Given the description of an element on the screen output the (x, y) to click on. 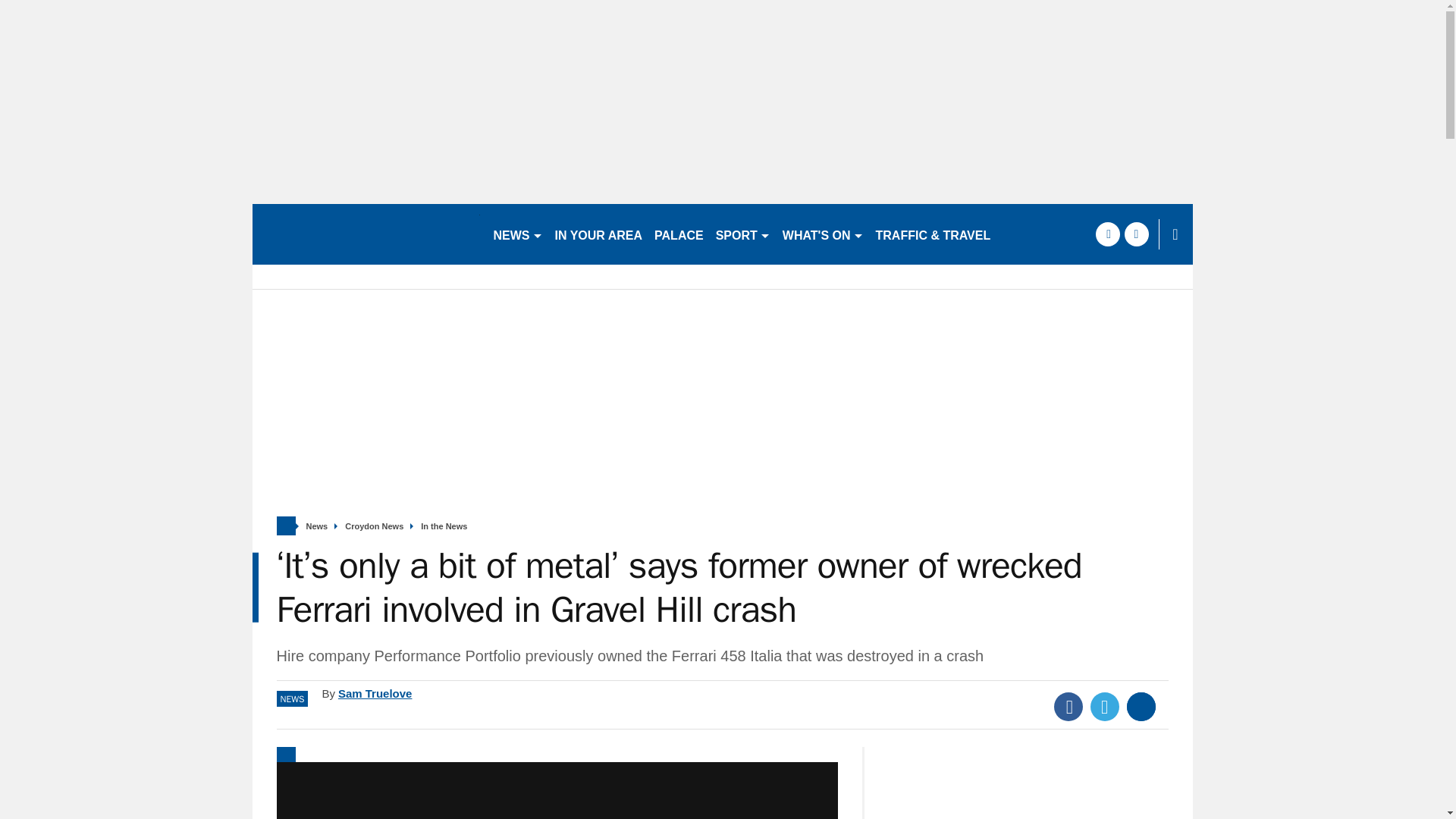
SPORT (743, 233)
twitter (1136, 233)
WHAT'S ON (822, 233)
facebook (1106, 233)
PALACE (678, 233)
Twitter (1104, 706)
IN YOUR AREA (598, 233)
Facebook (1068, 706)
croydonadvertiser (365, 233)
NEWS (517, 233)
